Given the description of an element on the screen output the (x, y) to click on. 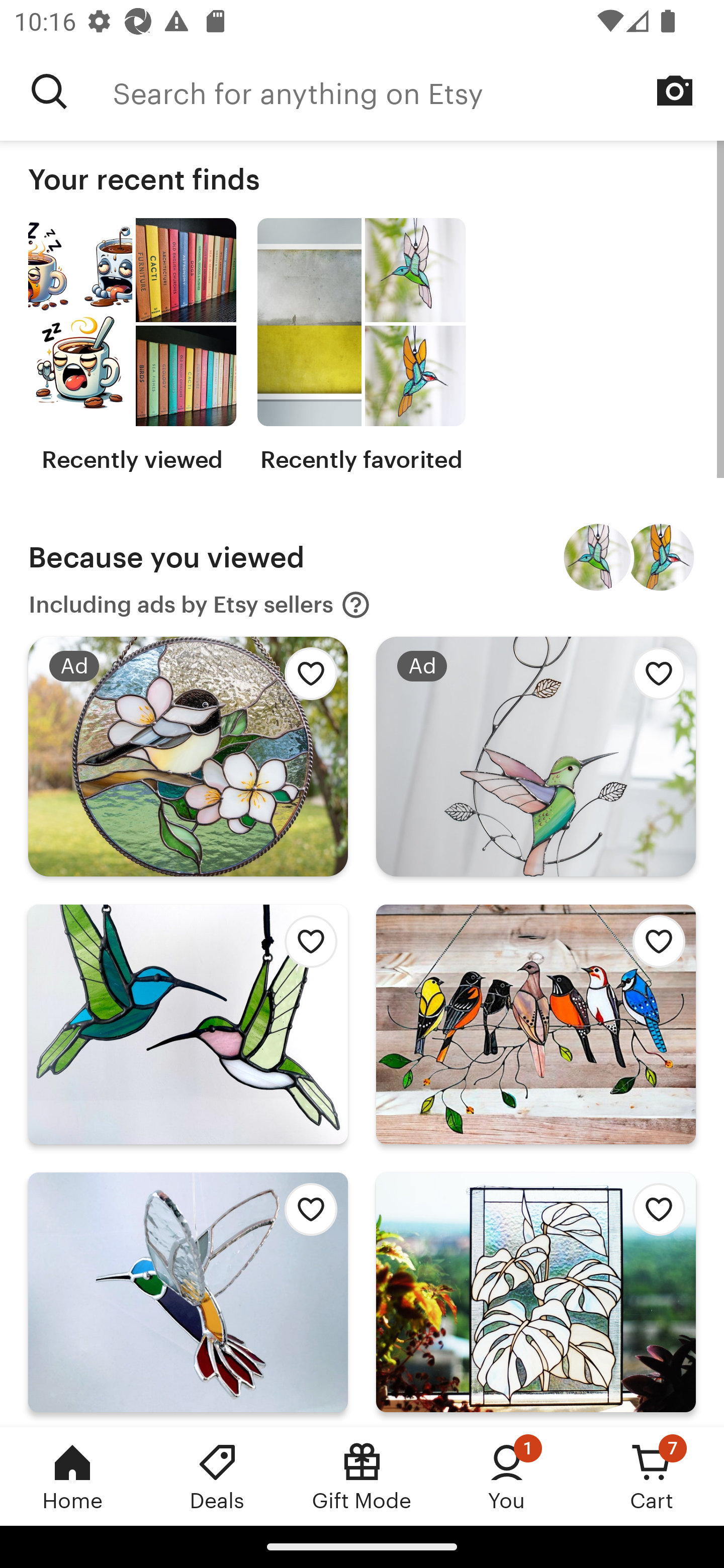
Search for anything on Etsy (49, 91)
Search by image (674, 90)
Search for anything on Etsy (418, 91)
Recently viewed (132, 345)
Recently favorited (361, 345)
Including ads by Etsy sellers (199, 604)
Deals (216, 1475)
Gift Mode (361, 1475)
You, 1 new notification You (506, 1475)
Cart, 7 new notifications Cart (651, 1475)
